Given the description of an element on the screen output the (x, y) to click on. 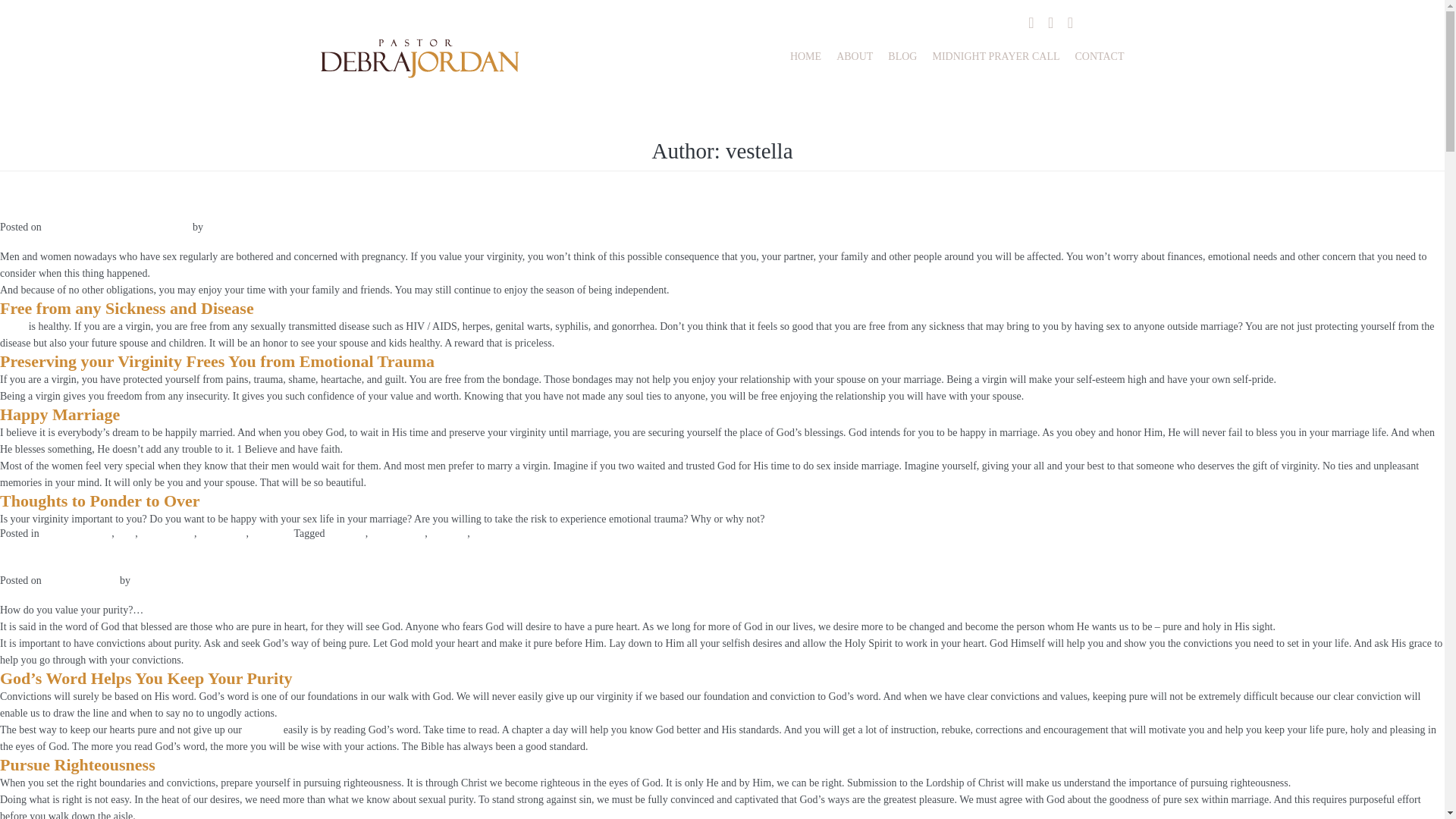
Self-Love (272, 532)
Purity (13, 326)
love (125, 532)
relationships (398, 532)
CONTACT (1095, 56)
vestella (148, 580)
self-love (448, 532)
How Important is Virginity to you? (125, 210)
HOME (805, 56)
Relationship (166, 532)
